Given the description of an element on the screen output the (x, y) to click on. 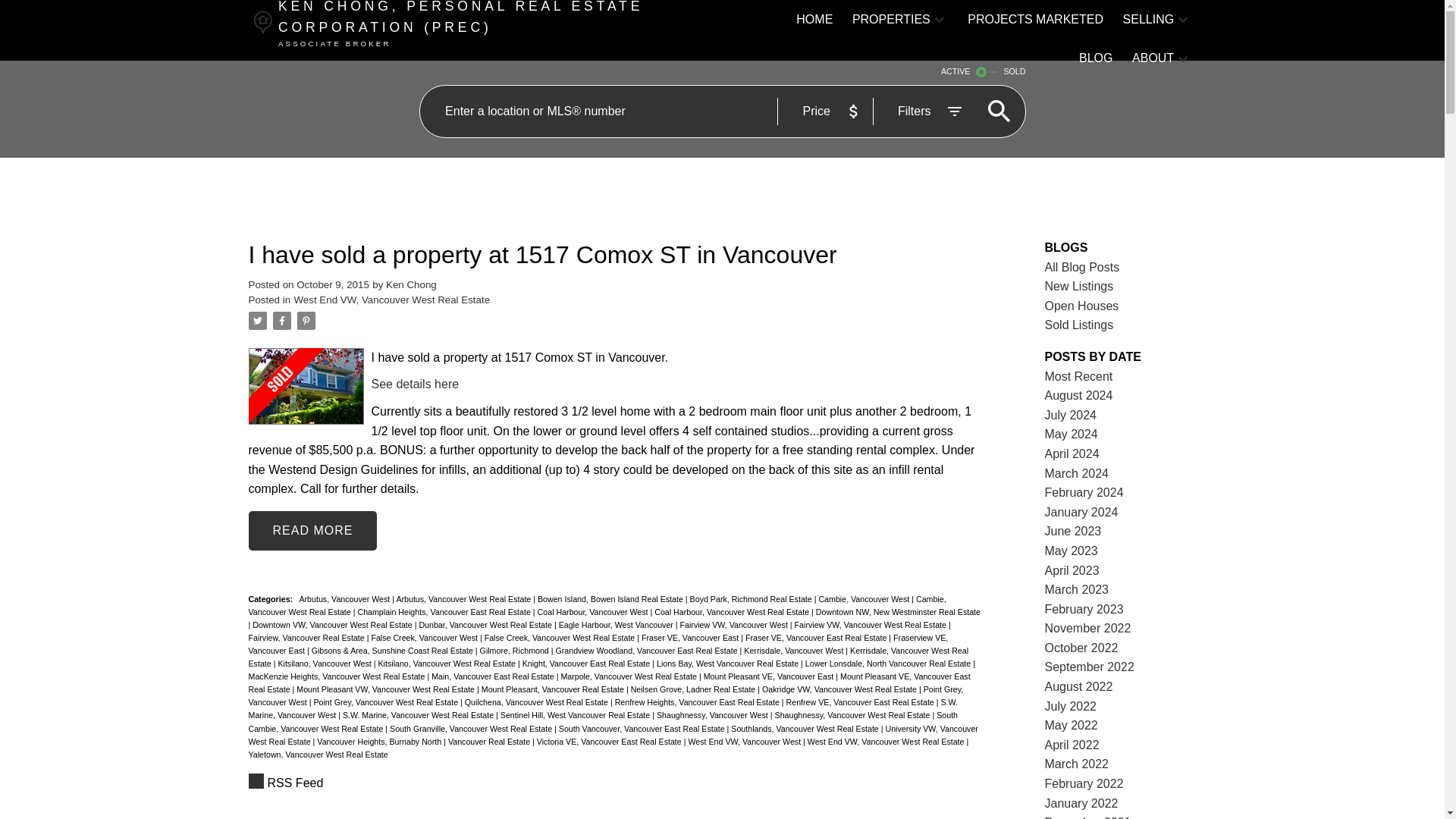
Arbutus, Vancouver West Real Estate (464, 598)
RSS (616, 783)
Cambie, Vancouver West Real Estate (597, 605)
Champlain Heights, Vancouver East Real Estate (444, 611)
Fairview, Vancouver Real Estate (307, 637)
Cambie, Vancouver West (864, 598)
Fairview VW, Vancouver West (734, 624)
Bowen Island, Bowen Island Real Estate (611, 598)
READ (312, 530)
False Creek, Vancouver West (425, 637)
